Given the description of an element on the screen output the (x, y) to click on. 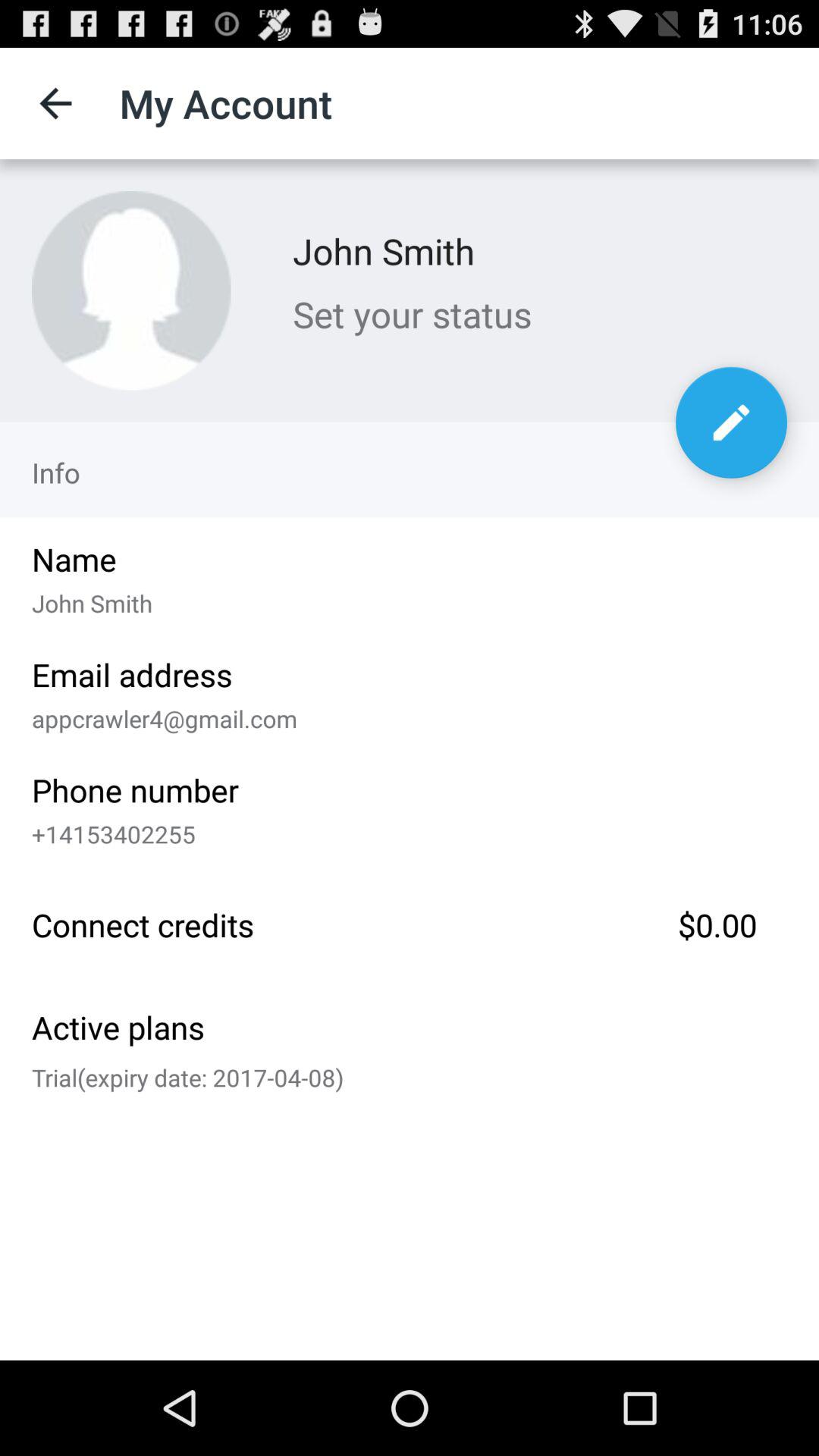
turn off item to the left of my account item (55, 103)
